Given the description of an element on the screen output the (x, y) to click on. 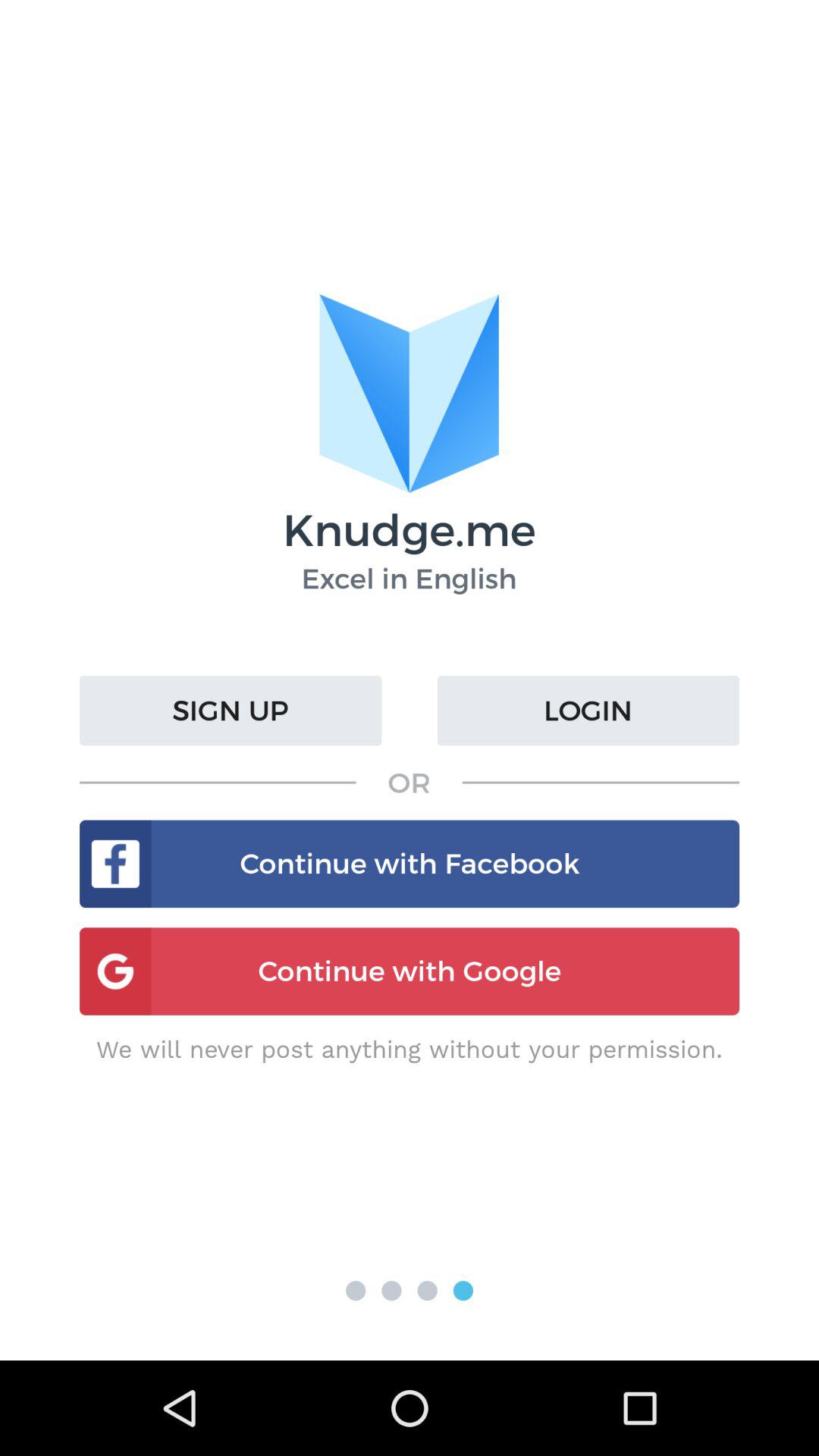
choose the item above or icon (230, 710)
